Given the description of an element on the screen output the (x, y) to click on. 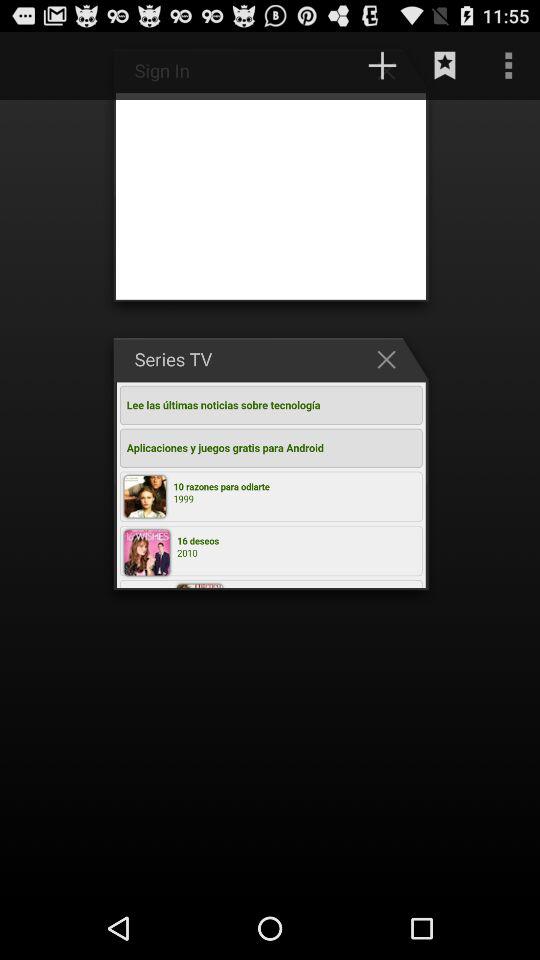
press http www javamovil item (299, 65)
